Given the description of an element on the screen output the (x, y) to click on. 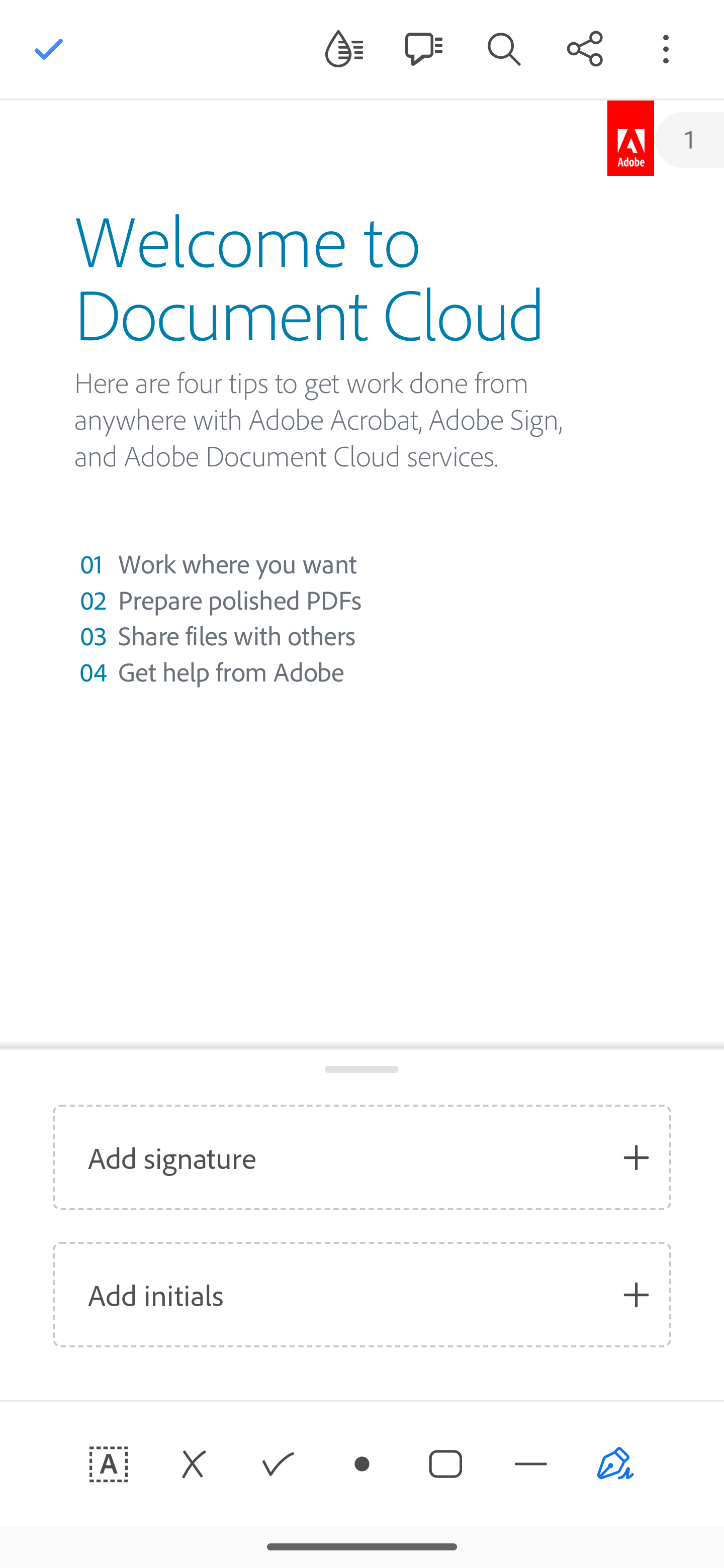
Done (49, 49)
Turn on Liquid Mode (343, 48)
Find keyword in document (503, 48)
Share this document with others (584, 48)
More options (665, 48)
Comments (423, 48)
Add your initials Add initials Add your initials (361, 1293)
Fill in form fields (108, 1464)
Add a crossmark (192, 1464)
Add a checkmark (277, 1464)
Add a filled dot (361, 1464)
Draw a rectangle with rounded corners (445, 1464)
Draw a line (530, 1464)
Add your signature or initials (615, 1464)
